Given the description of an element on the screen output the (x, y) to click on. 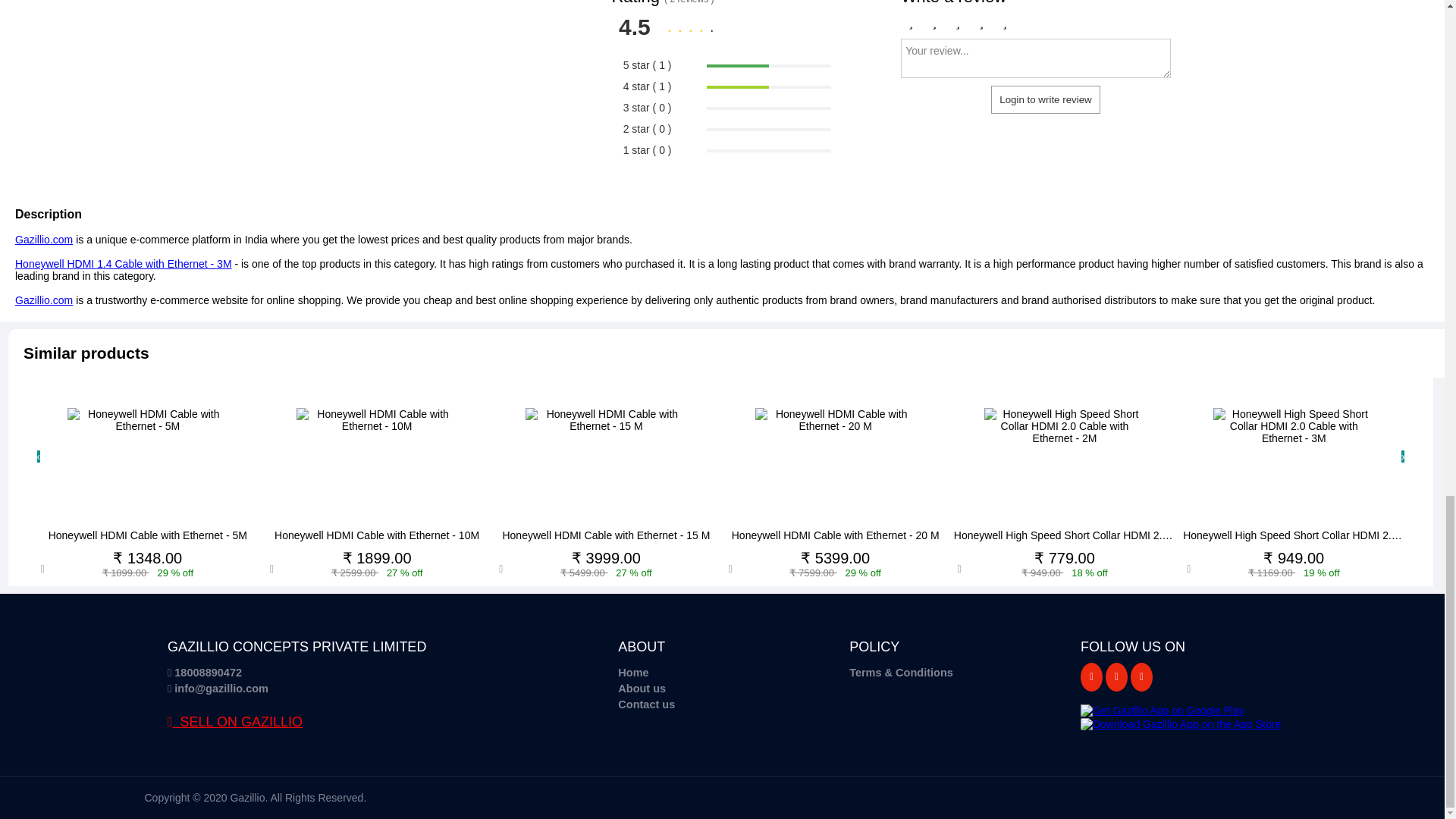
Gazillio.com (43, 300)
Honeywell HDMI 1.4 Cable with Ethernet - 3M (122, 263)
Login to write review (1045, 99)
Gazillio.com (43, 239)
